Given the description of an element on the screen output the (x, y) to click on. 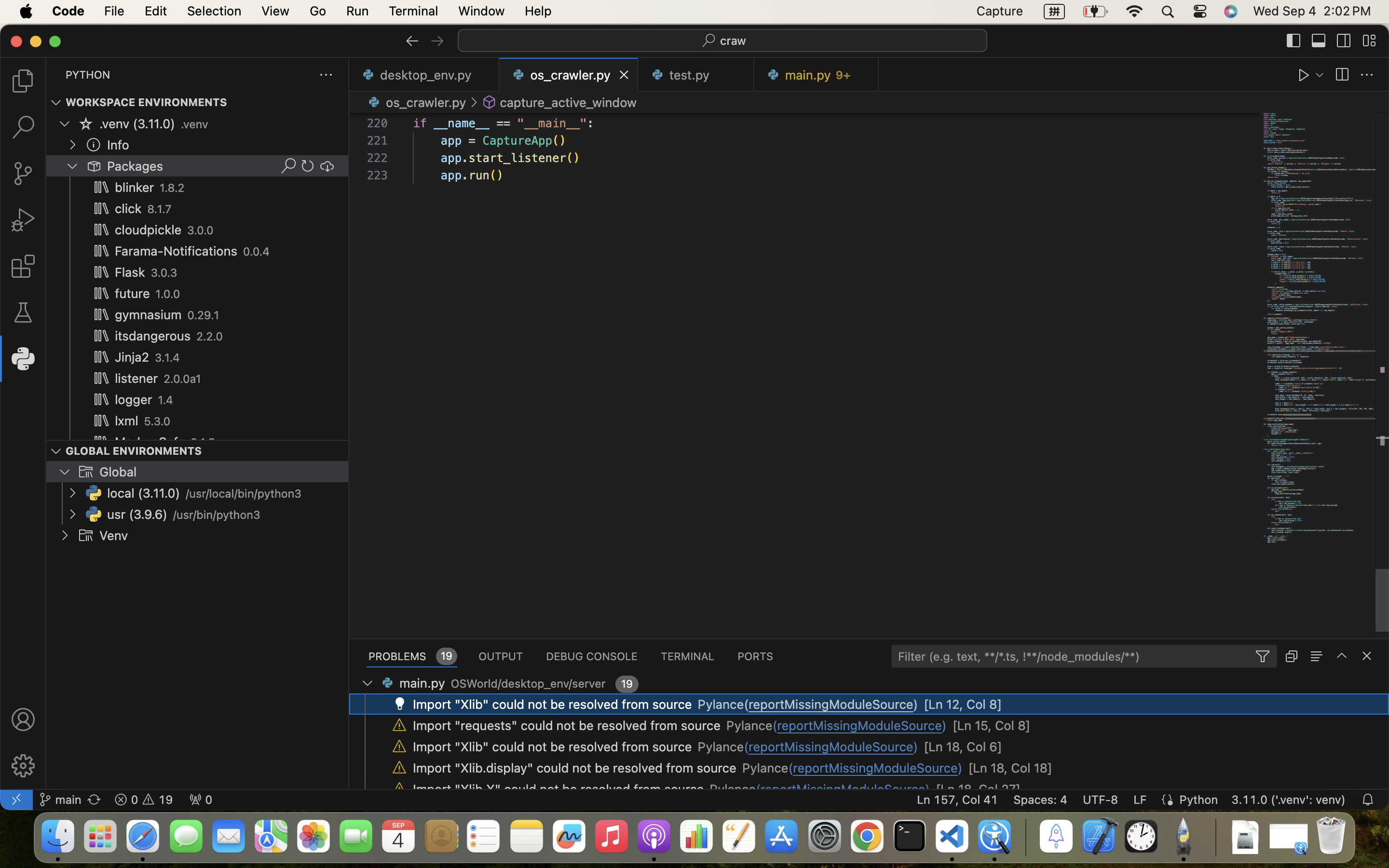
reportMissingModuleSource Element type: AXStaticText (830, 746)
2.2.0 Element type: AXStaticText (208, 336)
 Element type: AXStaticText (489, 101)
[Ln 15, Col 8] Element type: AXStaticText (991, 725)
0 OUTPUT Element type: AXRadioButton (500, 655)
